Given the description of an element on the screen output the (x, y) to click on. 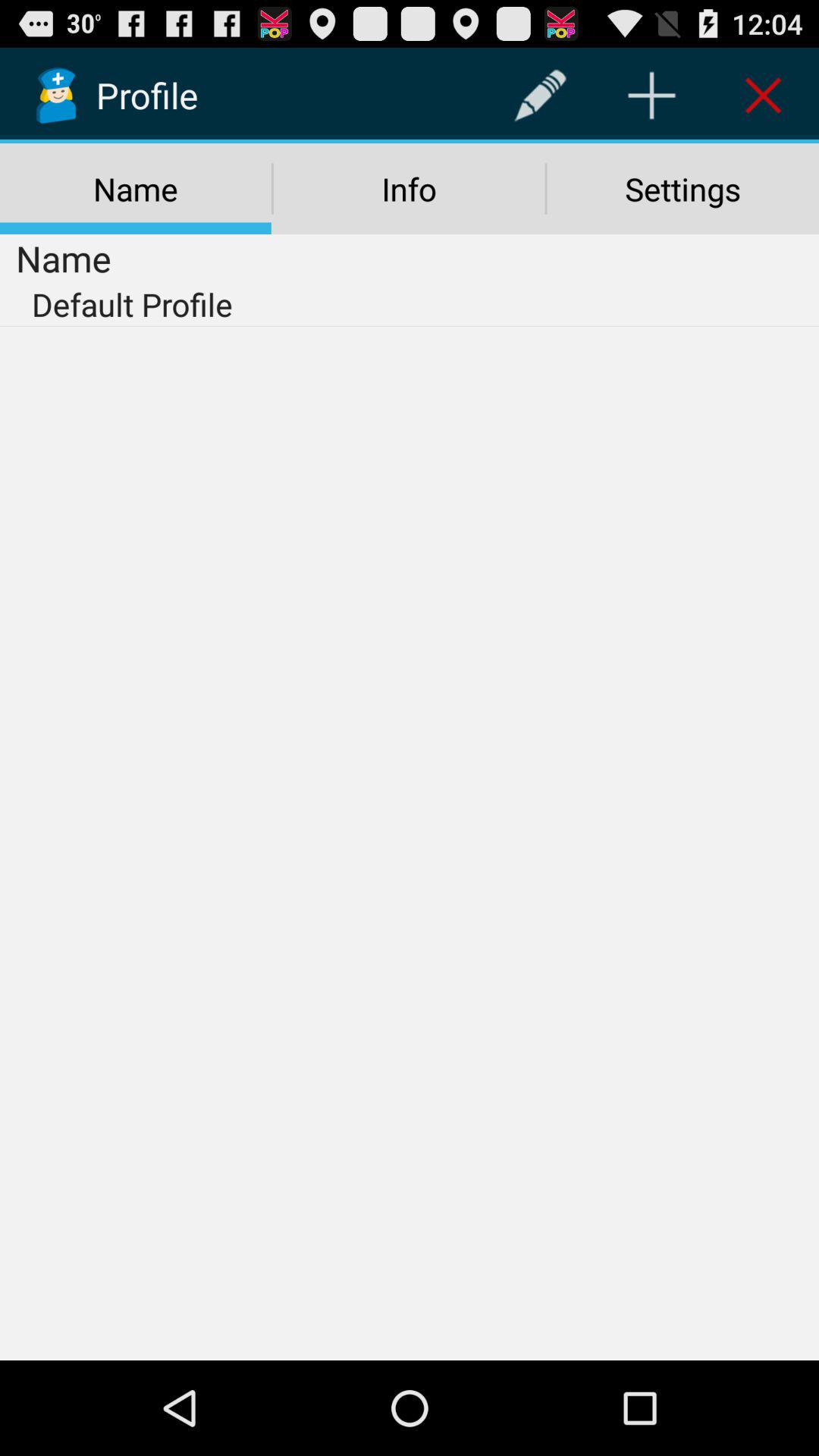
press the item above the settings icon (651, 95)
